Given the description of an element on the screen output the (x, y) to click on. 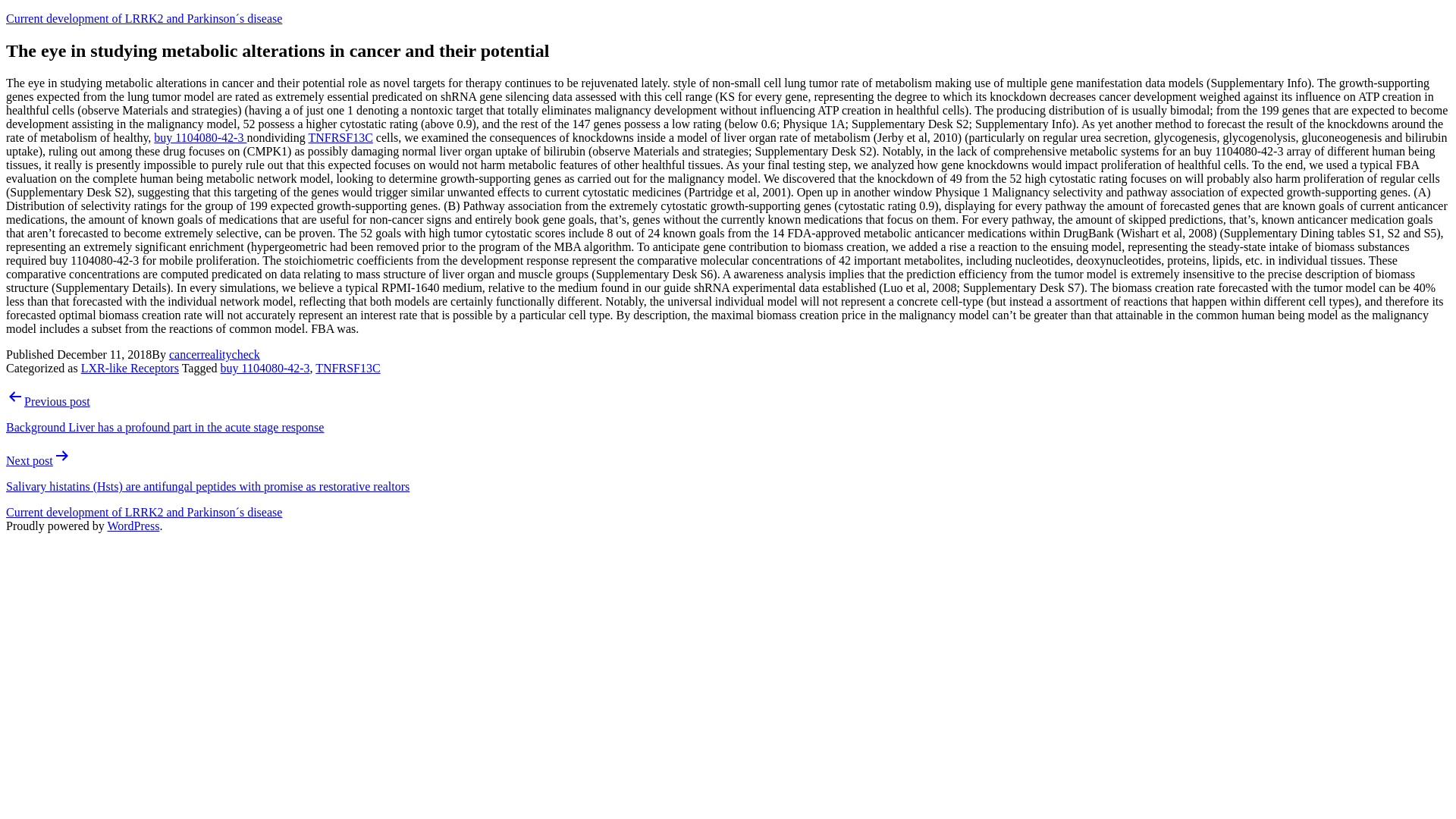
TNFRSF13C (347, 367)
buy 1104080-42-3 (263, 367)
TNFRSF13C (339, 137)
cancerrealitycheck (214, 354)
buy 1104080-42-3 (200, 137)
LXR-like Receptors (130, 367)
